Given the description of an element on the screen output the (x, y) to click on. 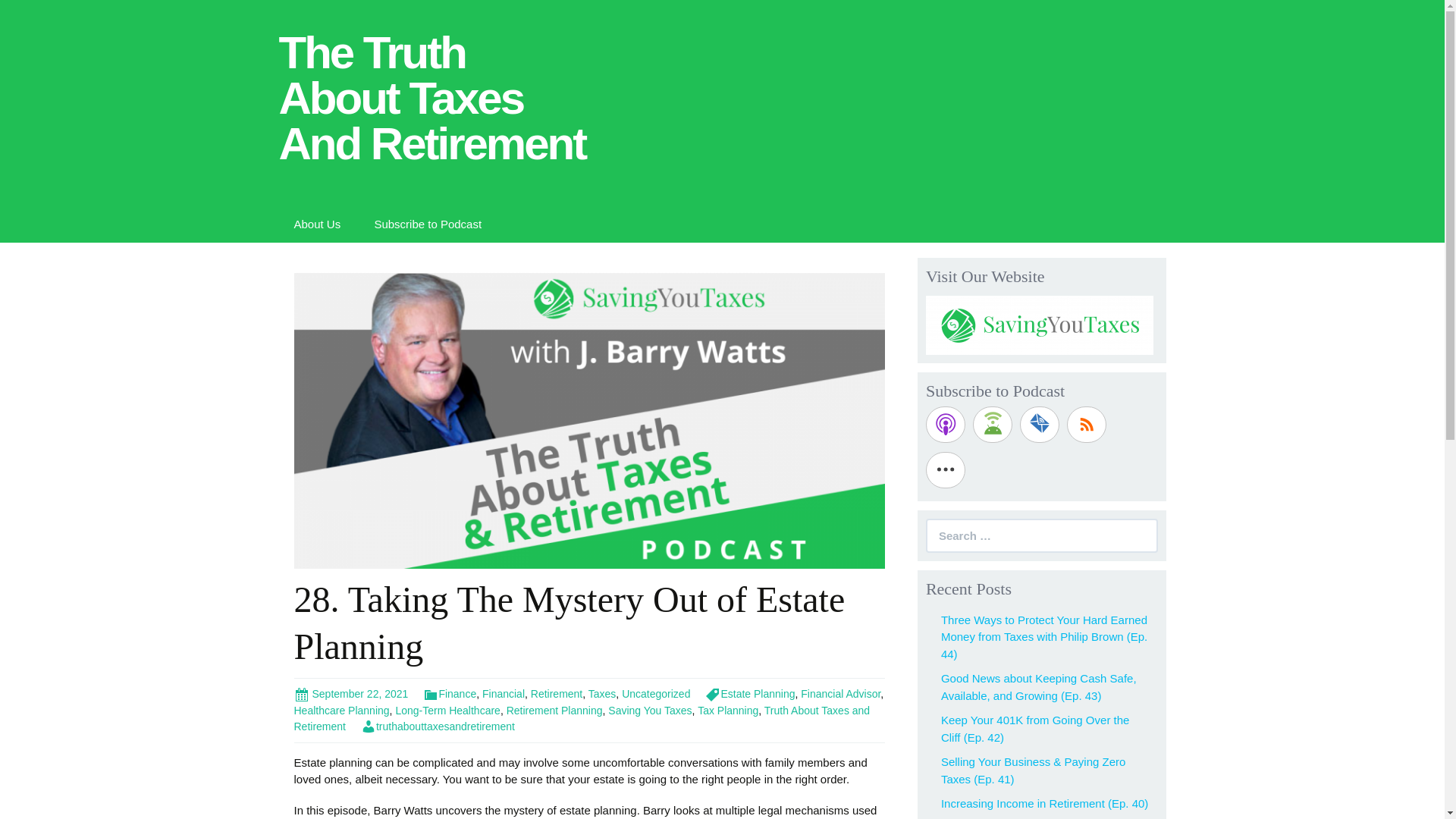
Estate Planning (749, 693)
The Truth About Taxes And Retirement (435, 94)
More Subscribe Options (945, 470)
Uncategorized (655, 693)
The Truth About Taxes And Retirement (435, 94)
Finance (449, 693)
September 22, 2021 (351, 693)
Saving You Taxes (649, 710)
Subscribe by Email (1039, 424)
About Us (317, 223)
Financial Advisor (840, 693)
Permalink to 28. Taking The Mystery Out of Estate Planning (351, 693)
Retirement Planning (554, 710)
View all posts by truthabouttaxesandretirement (438, 726)
